Given the description of an element on the screen output the (x, y) to click on. 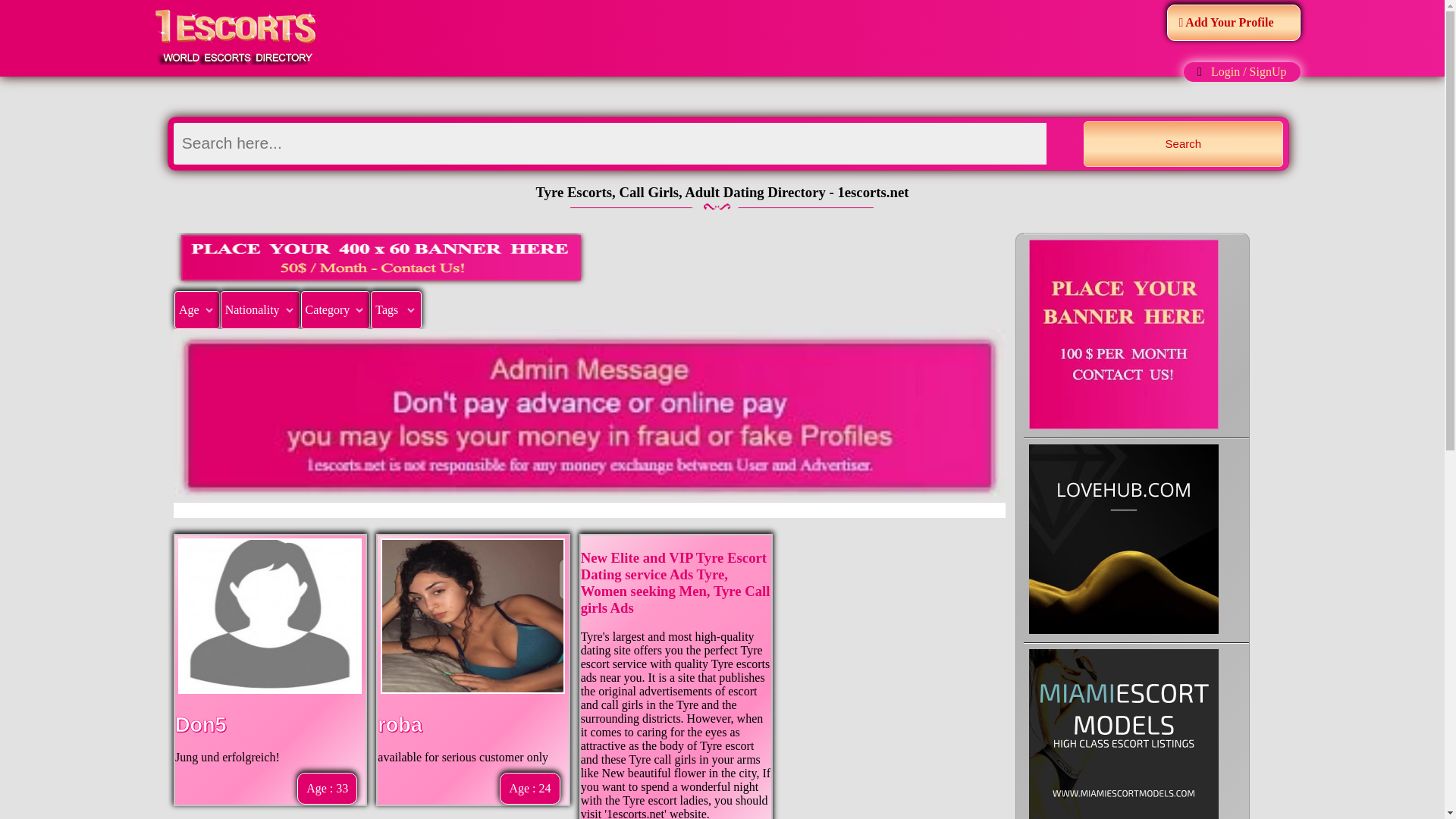
Search (1182, 144)
roba (399, 724)
Don5 (200, 724)
